Given the description of an element on the screen output the (x, y) to click on. 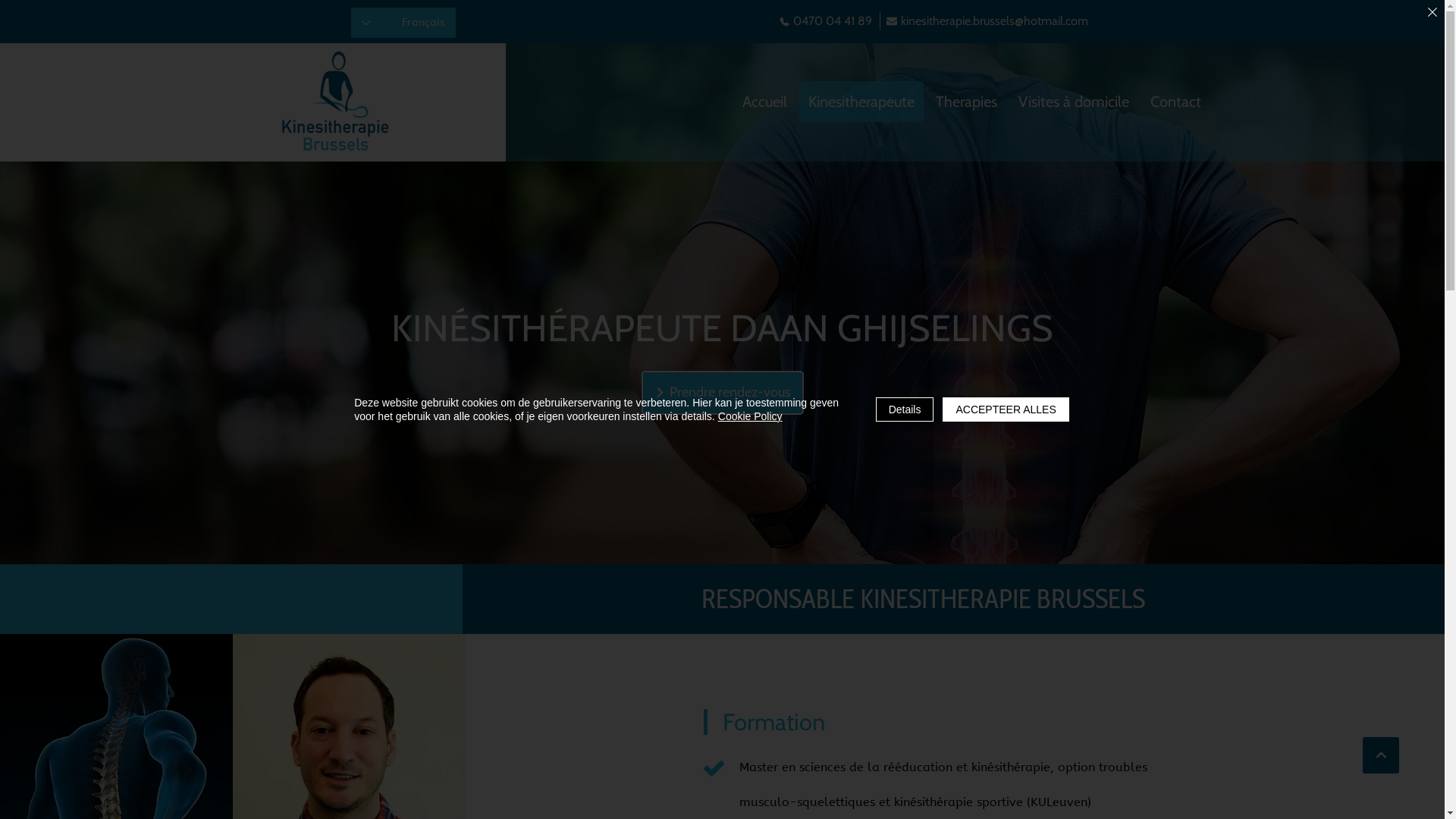
Kinesitherapeute Element type: text (861, 101)
Contact Element type: text (1175, 101)
Details Element type: text (904, 409)
Cookie Policy Element type: text (750, 416)
Prendre rendez-vous Element type: text (722, 392)
0470 04 41 89 Element type: text (824, 21)
Accueil Element type: text (764, 101)
kinesitherapie.brussels@hotmail.com Element type: text (986, 21)
Therapies Element type: text (966, 101)
ACCEPTEER ALLES Element type: text (1005, 409)
Kinesitherapie Brussels Element type: hover (334, 101)
